Given the description of an element on the screen output the (x, y) to click on. 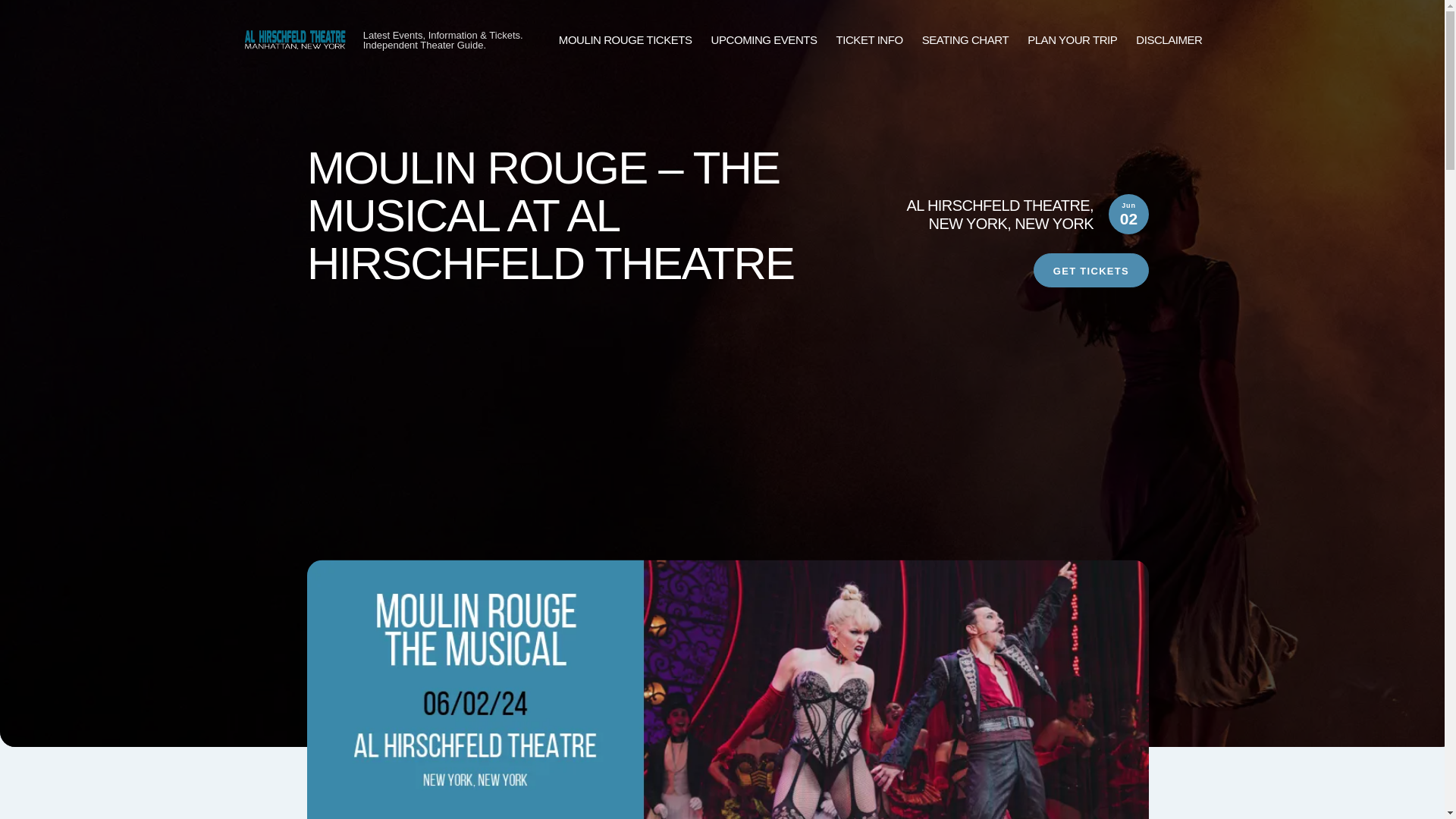
GET TICKETS (1090, 270)
DISCLAIMER (1168, 40)
SEATING CHART (965, 40)
TICKET INFO (868, 40)
MOULIN ROUGE TICKETS (626, 40)
PLAN YOUR TRIP (1071, 40)
UPCOMING EVENTS (763, 40)
